Given the description of an element on the screen output the (x, y) to click on. 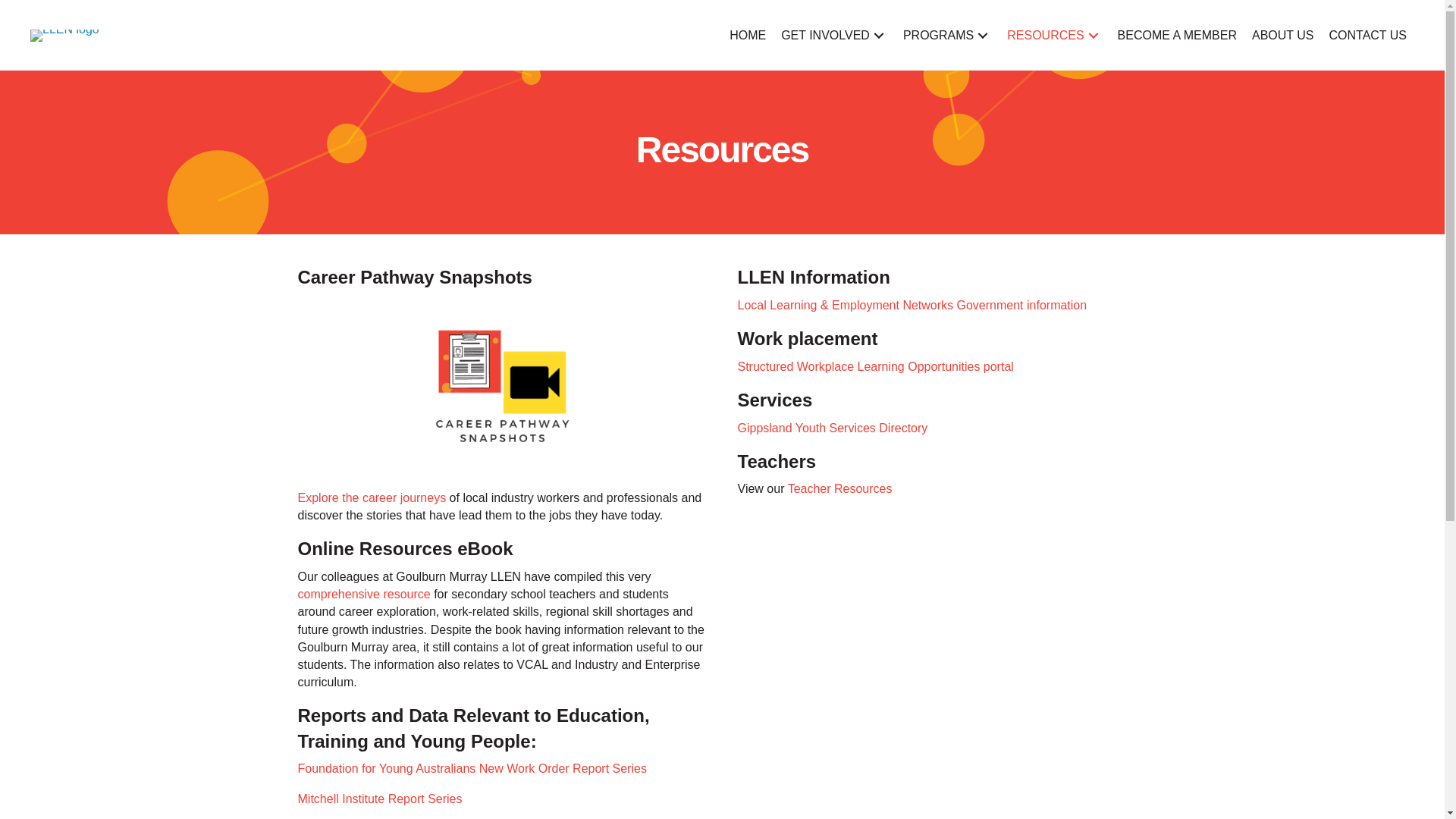
Mitchell Institute Report Series  Element type: text (380, 798)
Structured Workplace Learning Opportunities portal Element type: text (875, 366)
PROGRAMS Element type: text (947, 34)
HOME Element type: text (747, 34)
GET INVOLVED Element type: text (834, 34)
BECOME A MEMBER Element type: text (1177, 34)
Explore the career journeys Element type: text (371, 497)
RESOURCES Element type: text (1054, 34)
Gippsland Youth Services Directory Element type: text (832, 427)
ABOUT US Element type: text (1282, 34)
Career Pathway Snapshots Element type: text (414, 276)
Online Resources eBook Element type: text (404, 548)
LLEN logo Element type: hover (64, 35)
CONTACT US Element type: text (1367, 34)
Teacher Resources Element type: text (839, 488)
Local Learning & Employment Networks Government information Element type: text (911, 304)
comprehensive resource Element type: text (363, 593)
